Given the description of an element on the screen output the (x, y) to click on. 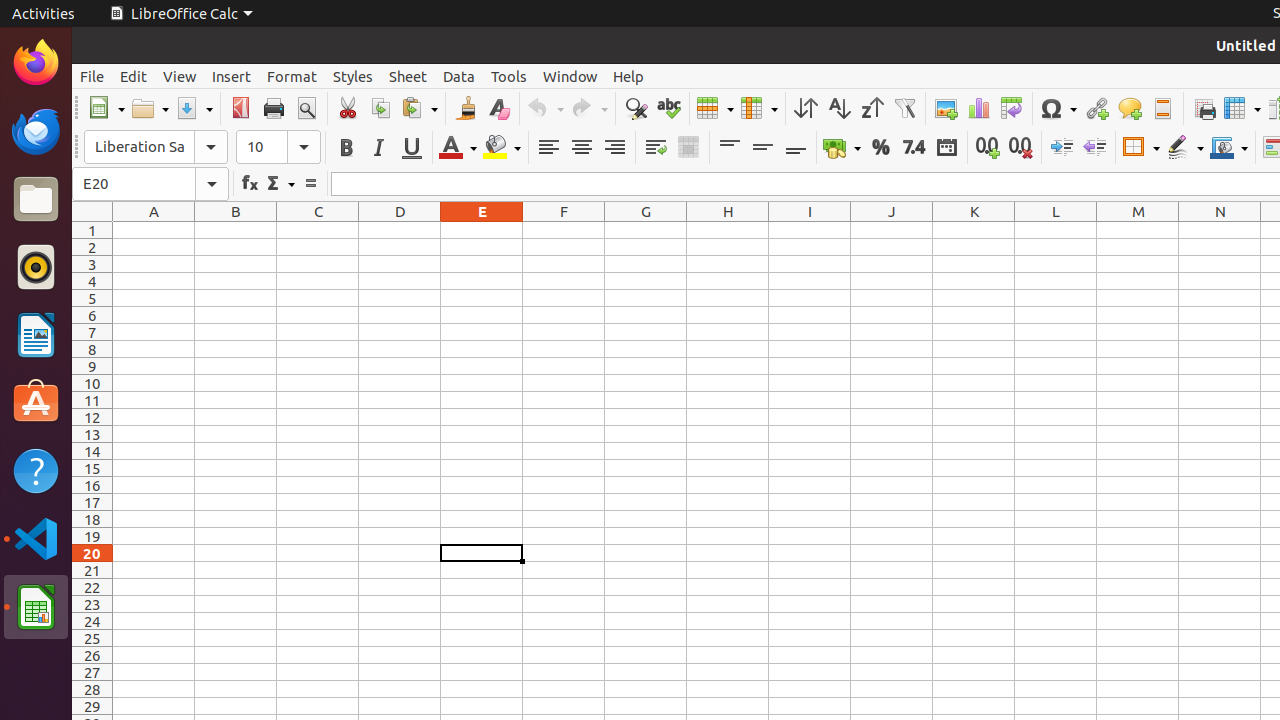
Decrease Element type: push-button (1094, 147)
Clone Element type: push-button (465, 108)
View Element type: menu (179, 76)
Chart Element type: push-button (978, 108)
PDF Element type: push-button (240, 108)
